Given the description of an element on the screen output the (x, y) to click on. 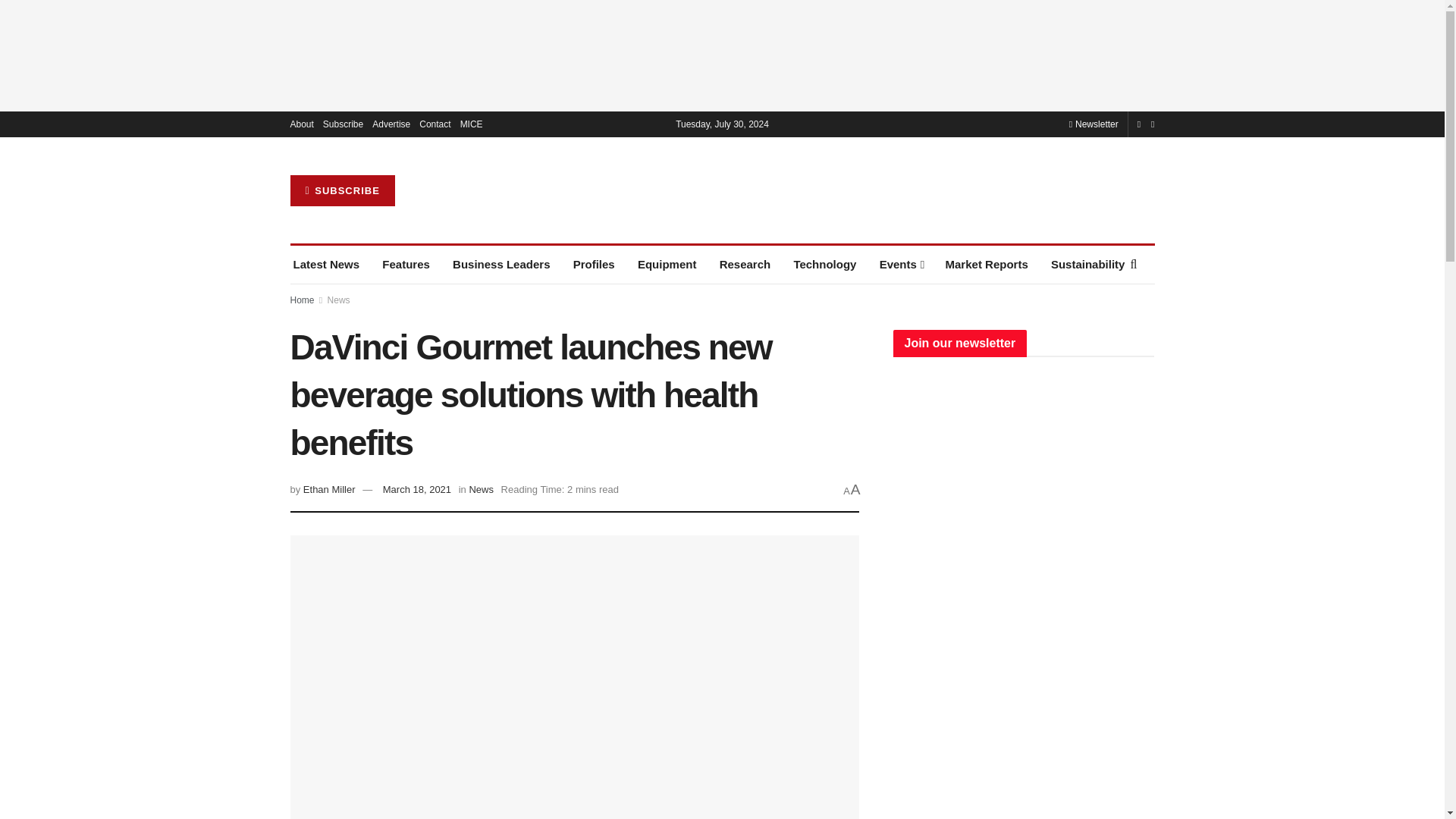
Features (405, 264)
Research (745, 264)
Equipment (667, 264)
About (301, 124)
Newsletter (1093, 123)
Profiles (593, 264)
Business Leaders (501, 264)
Market Reports (986, 264)
SUBSCRIBE (341, 190)
Events (901, 264)
Technology (824, 264)
Sustainability (1088, 264)
Latest News (325, 264)
Subscribe (342, 124)
Advertise (391, 124)
